Given the description of an element on the screen output the (x, y) to click on. 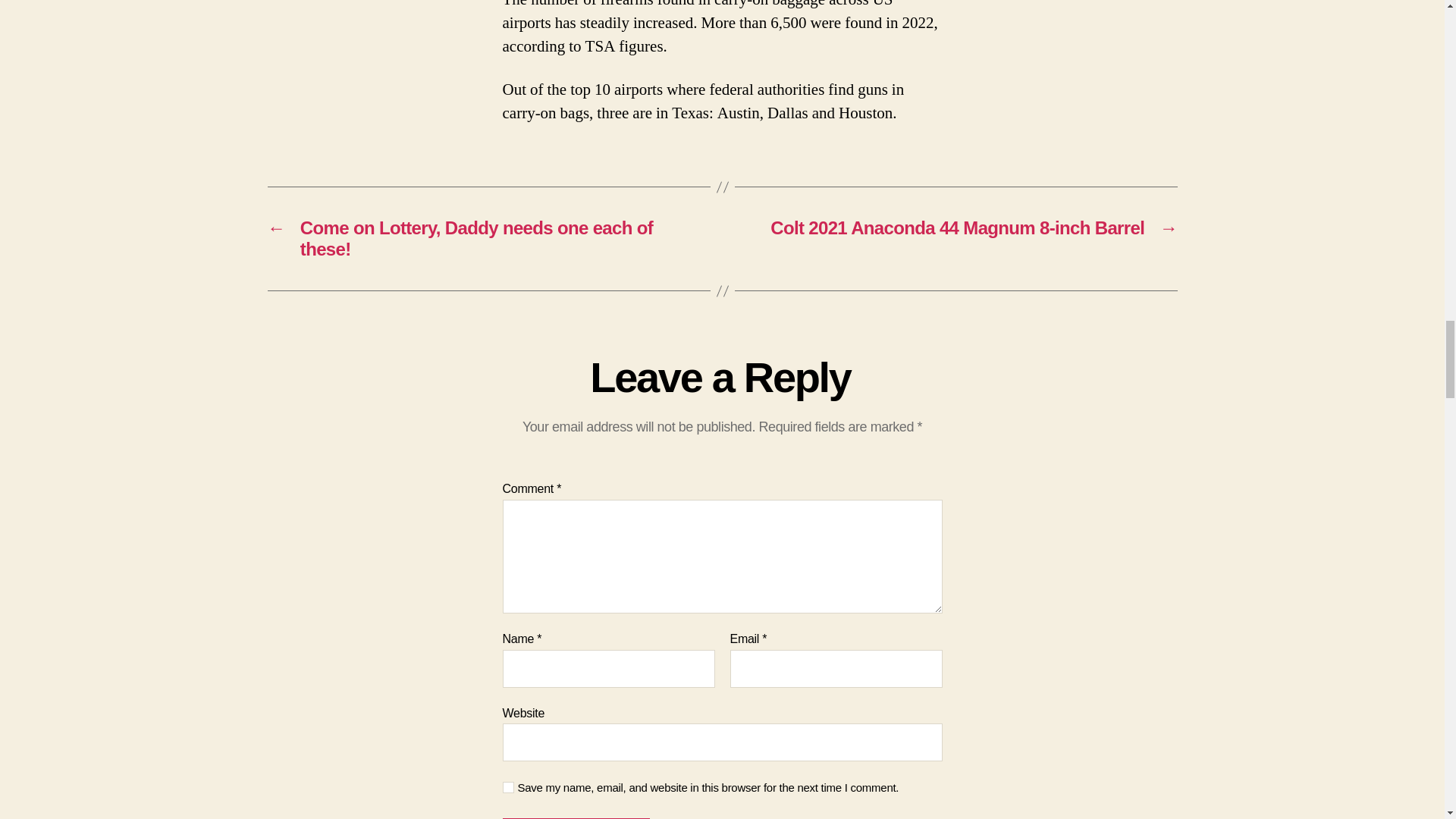
yes (507, 787)
